Given the description of an element on the screen output the (x, y) to click on. 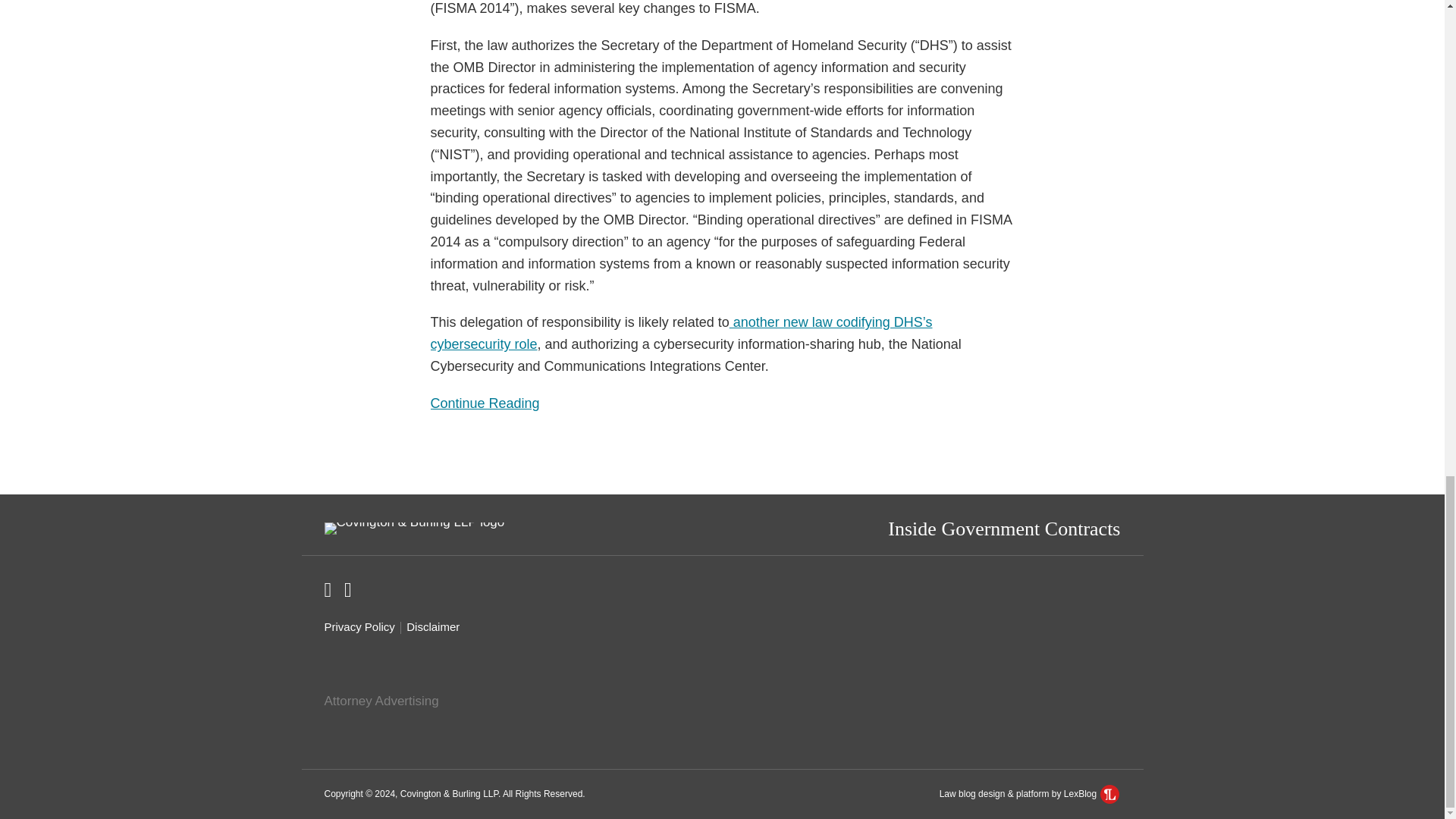
Disclaimer (722, 403)
Inside Government Contracts (433, 627)
Privacy Policy (1003, 527)
LexBlog Logo (359, 627)
